Given the description of an element on the screen output the (x, y) to click on. 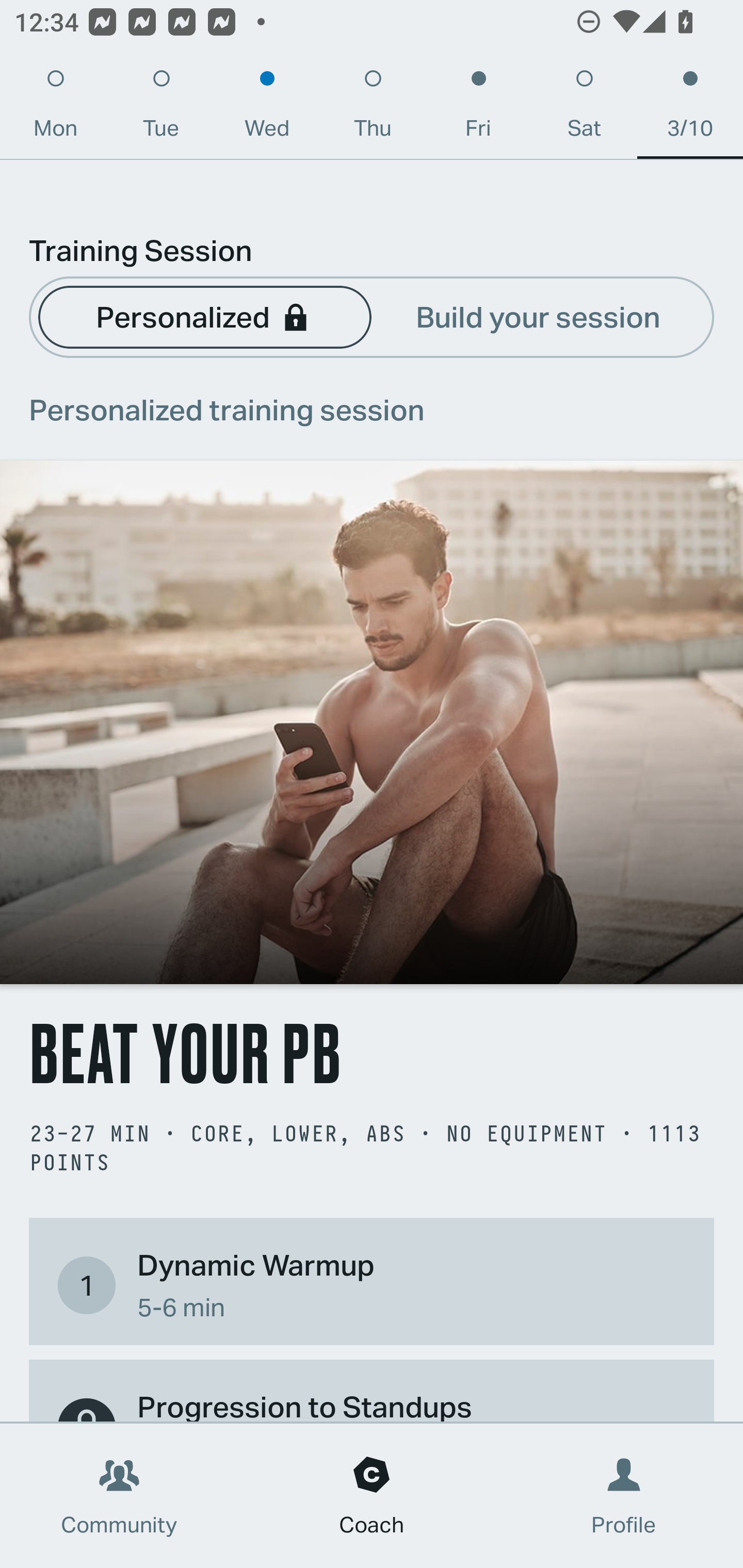
Mon (55, 108)
Tue (160, 108)
Wed (266, 108)
Thu (372, 108)
Fri (478, 108)
Sat (584, 108)
3/10 (690, 108)
Personalized (204, 315)
Build your session (538, 315)
1 Dynamic Warmup 5-6 min (371, 1284)
Community (119, 1495)
Profile (624, 1495)
